Given the description of an element on the screen output the (x, y) to click on. 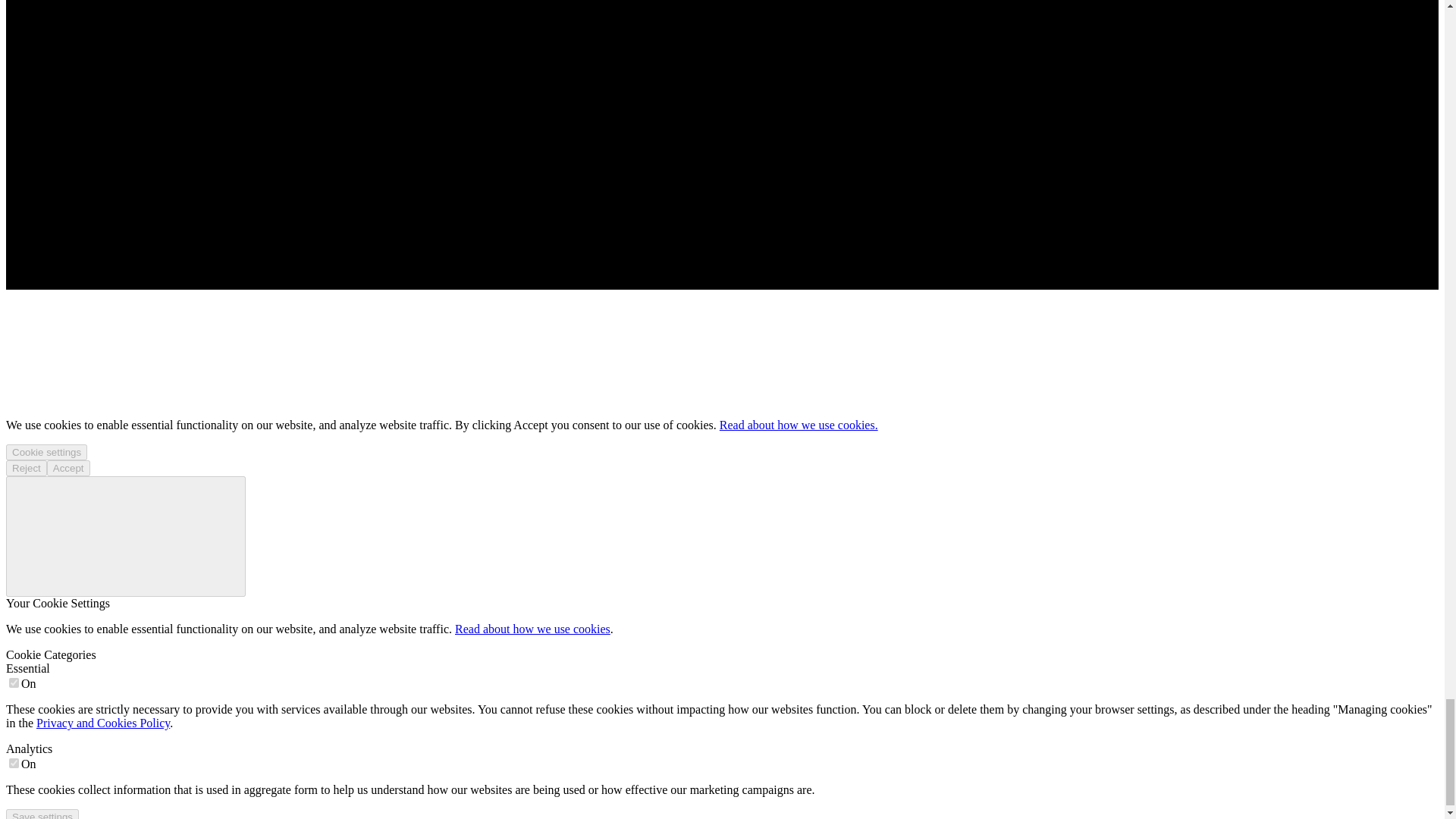
on (13, 763)
Privacy and Cookies Policy (103, 722)
Read about how we use cookies (532, 628)
Read about how we use cookies. (798, 424)
Reject (25, 467)
Accept (68, 467)
Cookie settings (46, 452)
on (13, 682)
